Given the description of an element on the screen output the (x, y) to click on. 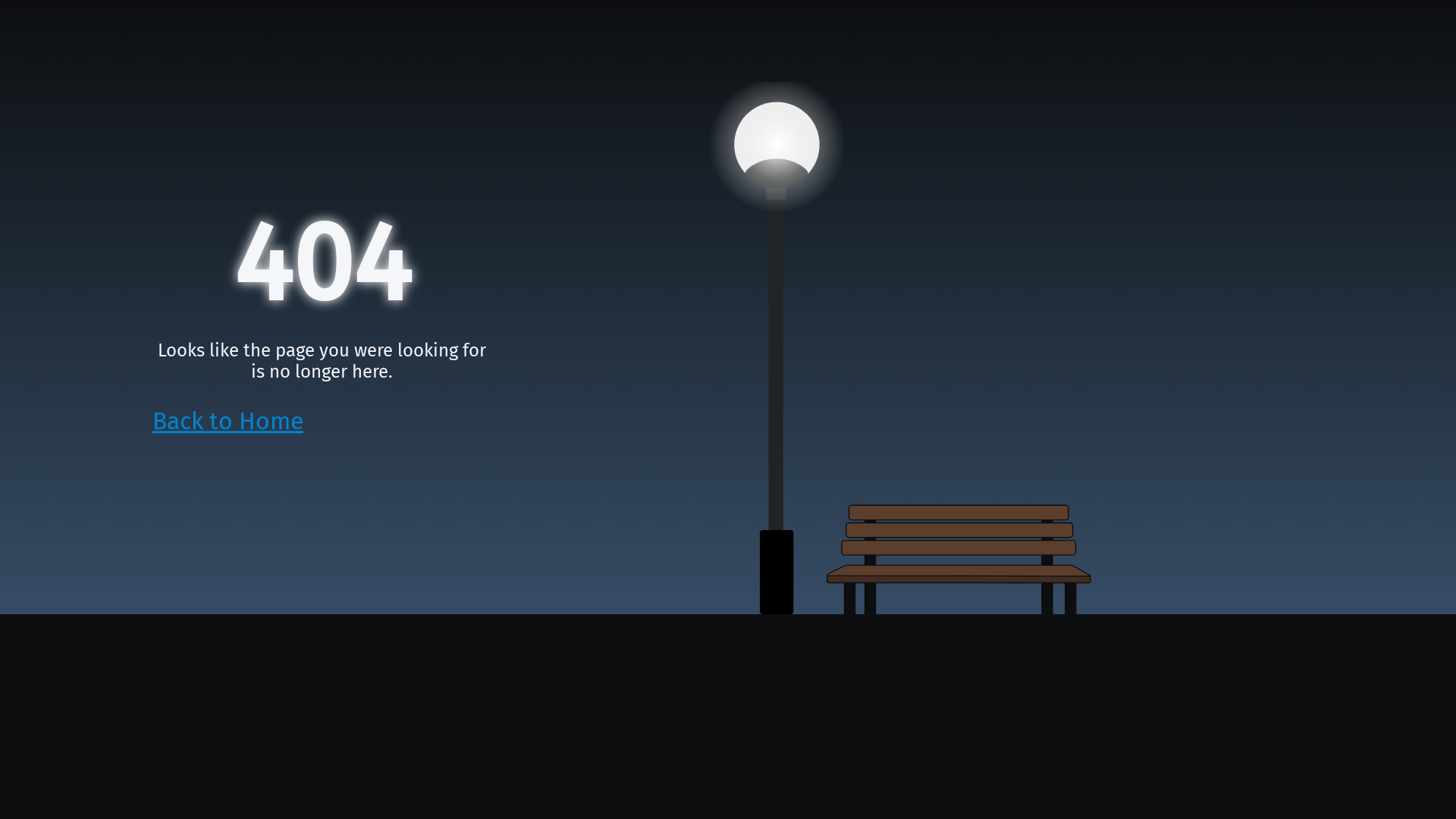
Back to Home Element type: text (227, 421)
